Given the description of an element on the screen output the (x, y) to click on. 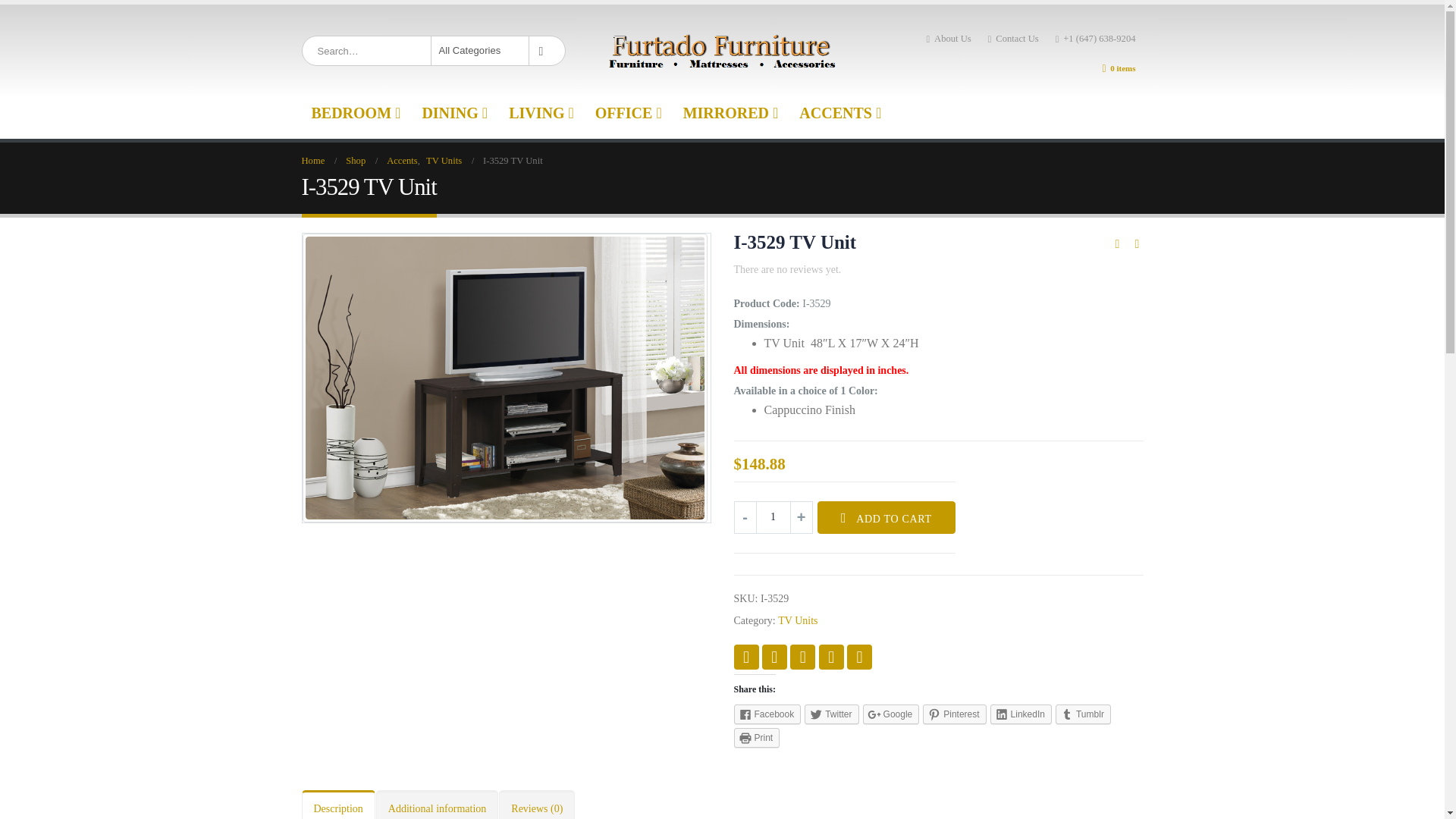
OFFICE (628, 112)
About Us (948, 38)
Click to share on Pinterest (954, 713)
BEDROOM (355, 112)
Click to share on Twitter (832, 713)
1 (773, 517)
LIVING (541, 112)
Search (544, 50)
DINING (454, 112)
Qty (773, 517)
Click to share on Facebook (767, 713)
Contact Us (1012, 38)
Metal Beds (355, 112)
Go to Home Page (312, 160)
